Given the description of an element on the screen output the (x, y) to click on. 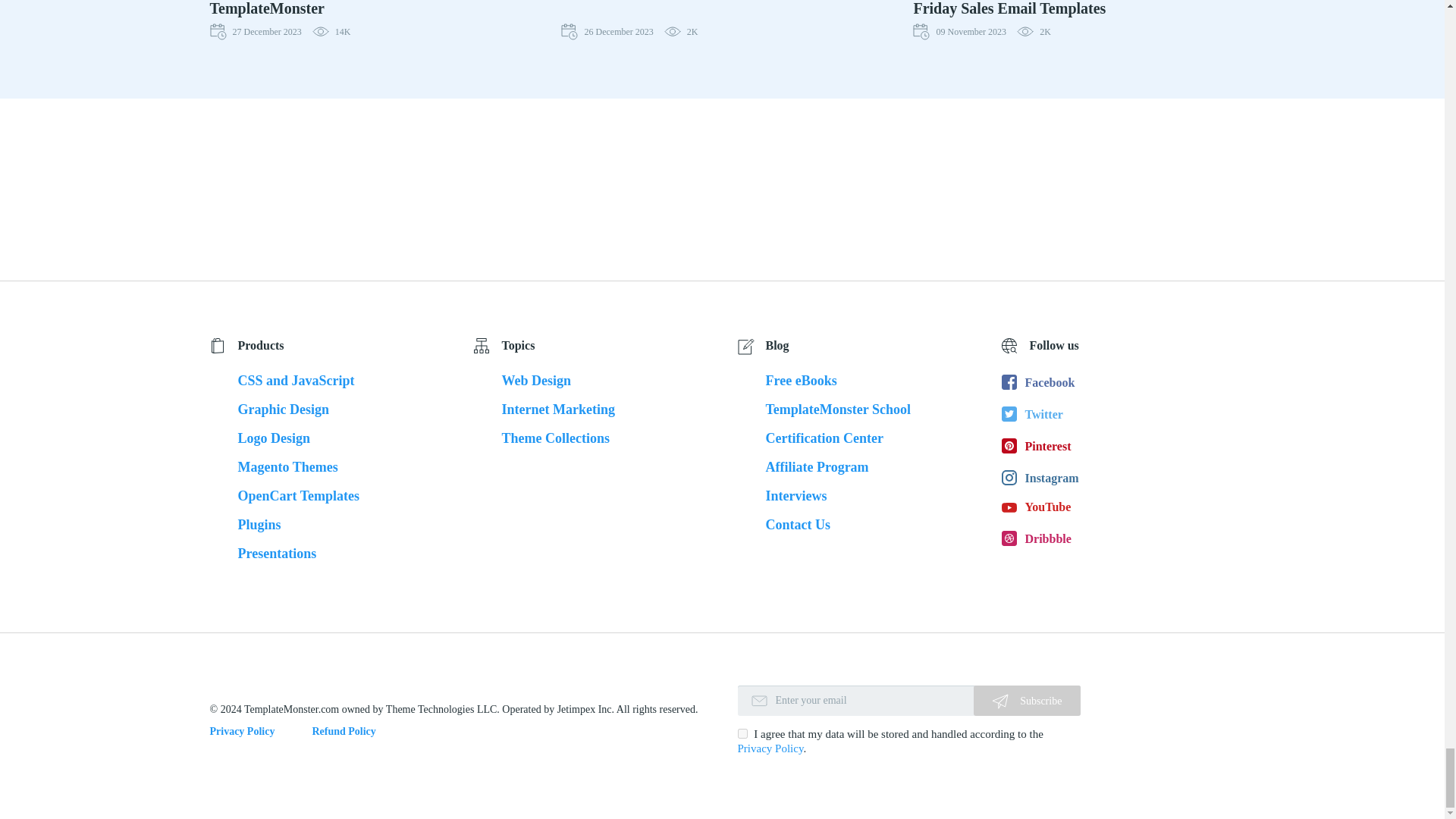
on (743, 733)
